Given the description of an element on the screen output the (x, y) to click on. 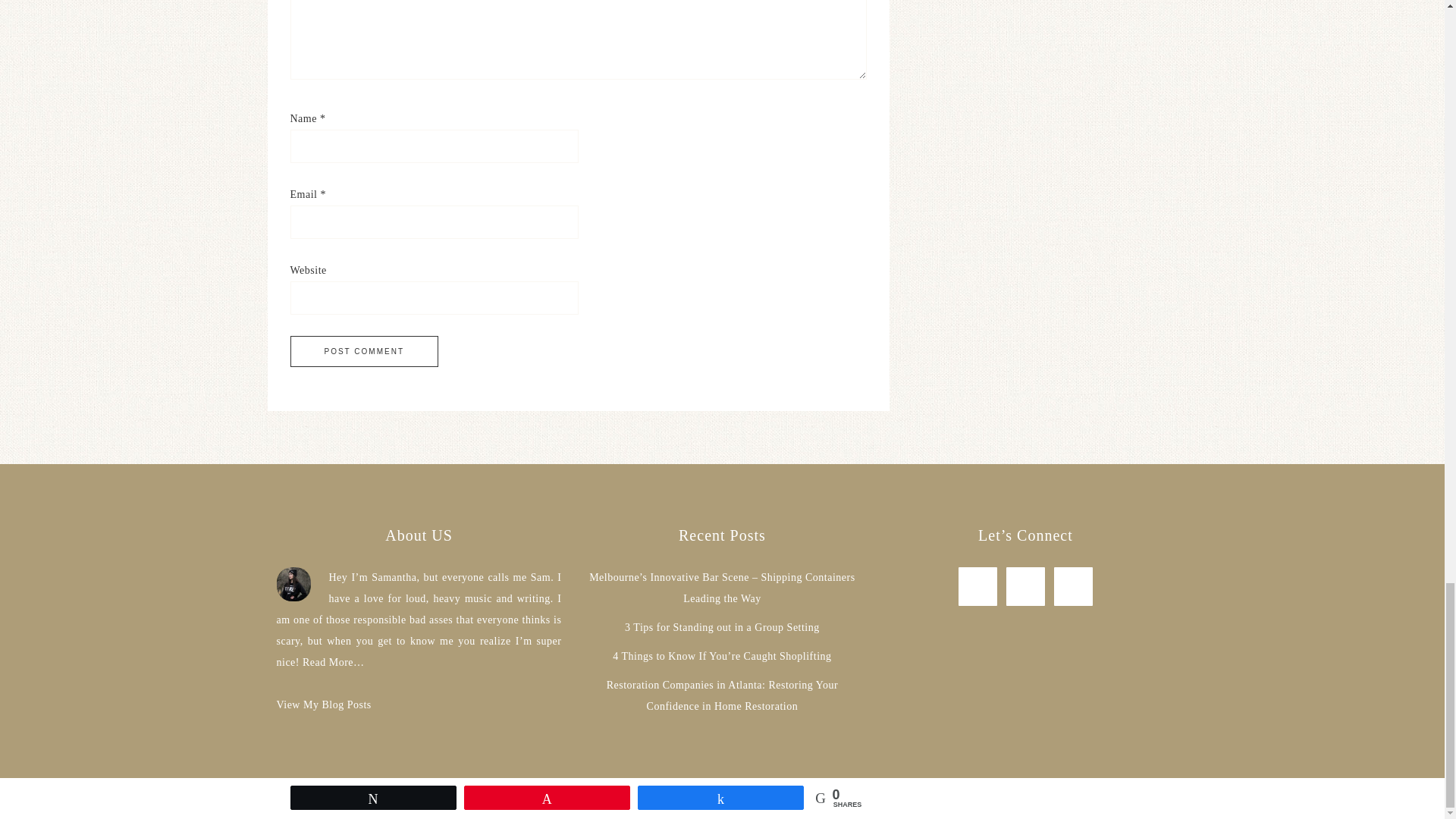
Post Comment (363, 350)
Post Comment (363, 350)
